Given the description of an element on the screen output the (x, y) to click on. 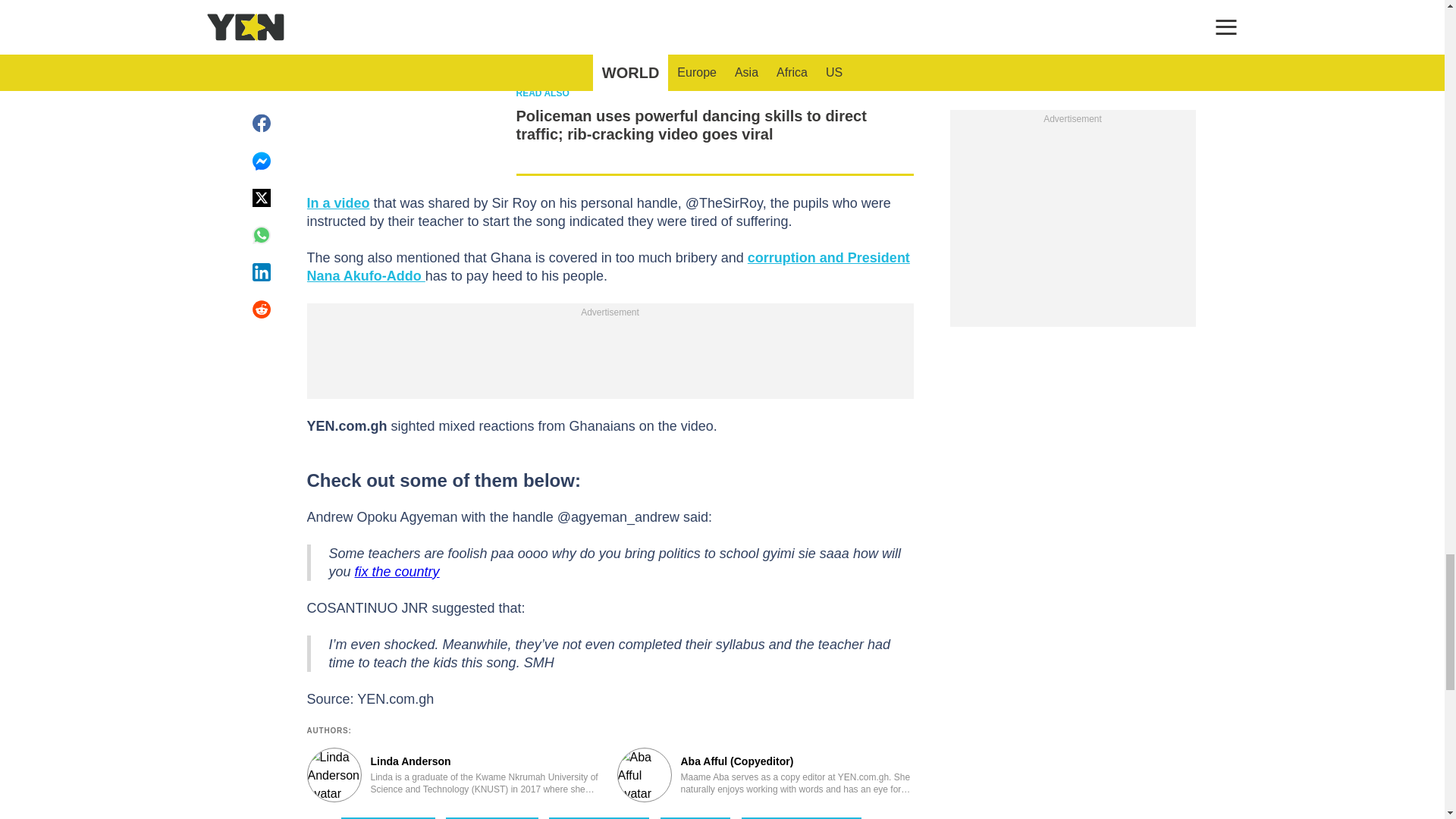
Author page (765, 774)
Author page (453, 774)
